Given the description of an element on the screen output the (x, y) to click on. 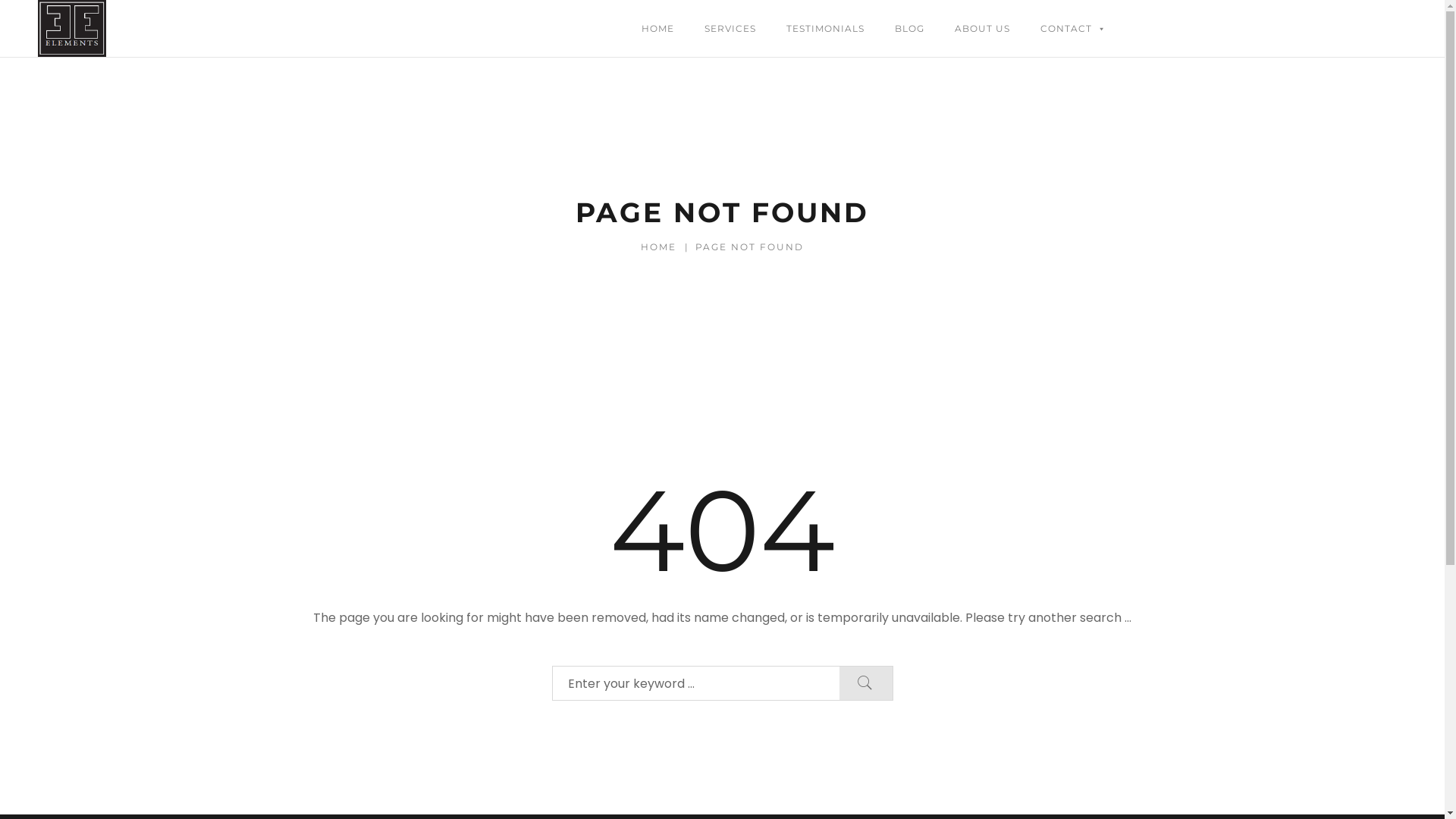
HOME Element type: text (657, 28)
CONTACT Element type: text (1073, 28)
BLOG Element type: text (909, 28)
ABOUT US Element type: text (982, 28)
TESTIMONIALS Element type: text (825, 28)
SERVICES Element type: text (730, 28)
HOME Element type: text (659, 247)
